Given the description of an element on the screen output the (x, y) to click on. 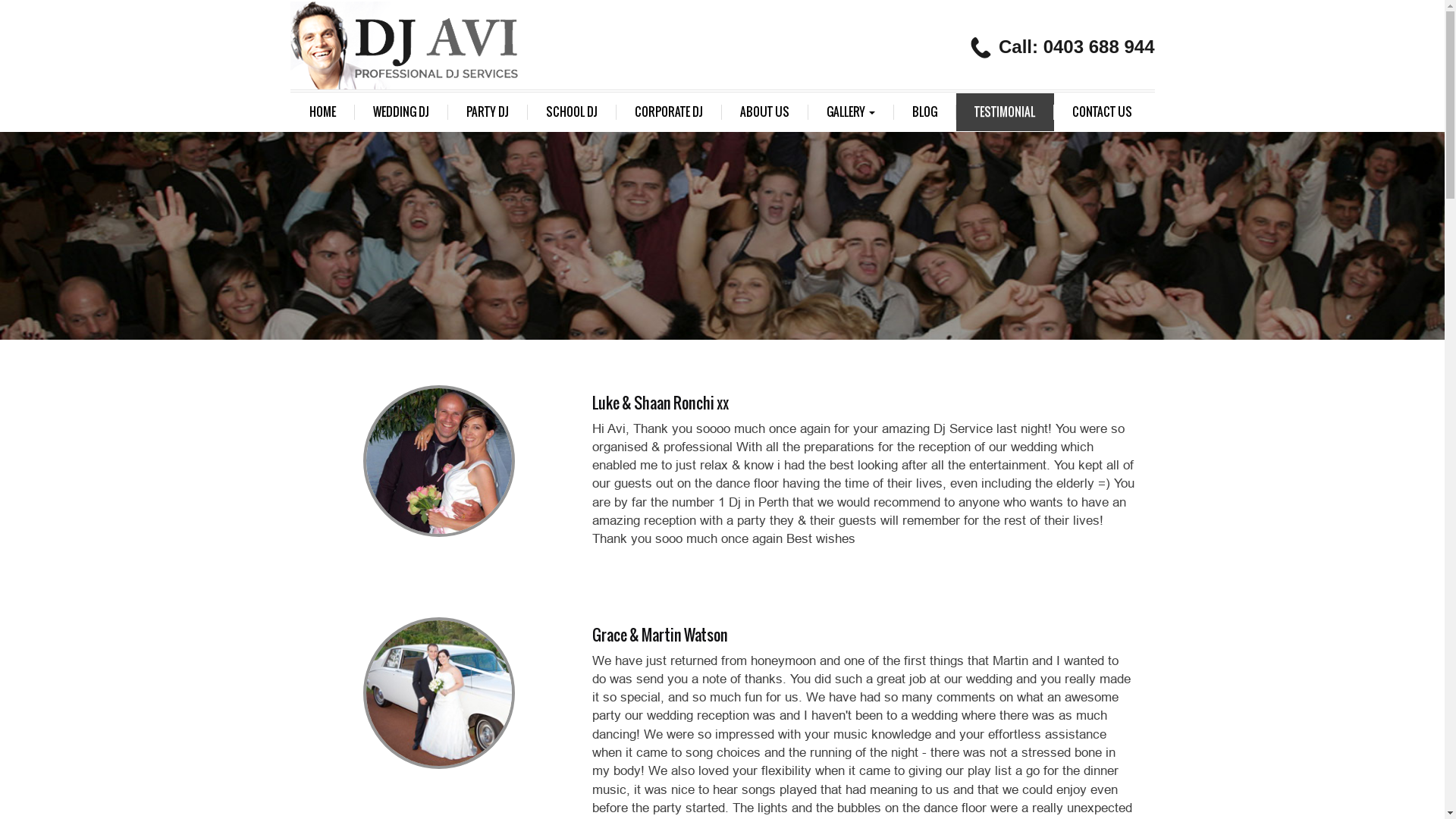
CONTACT US Element type: text (1102, 111)
PARTY DJ Element type: text (487, 111)
HOME Element type: text (322, 111)
ABOUT US Element type: text (764, 111)
TESTIMONIAL Element type: text (1004, 111)
BLOG Element type: text (924, 111)
SCHOOL DJ Element type: text (571, 111)
WEDDING DJ Element type: text (401, 111)
CORPORATE DJ Element type: text (668, 111)
GALLERY Element type: text (851, 111)
